Given the description of an element on the screen output the (x, y) to click on. 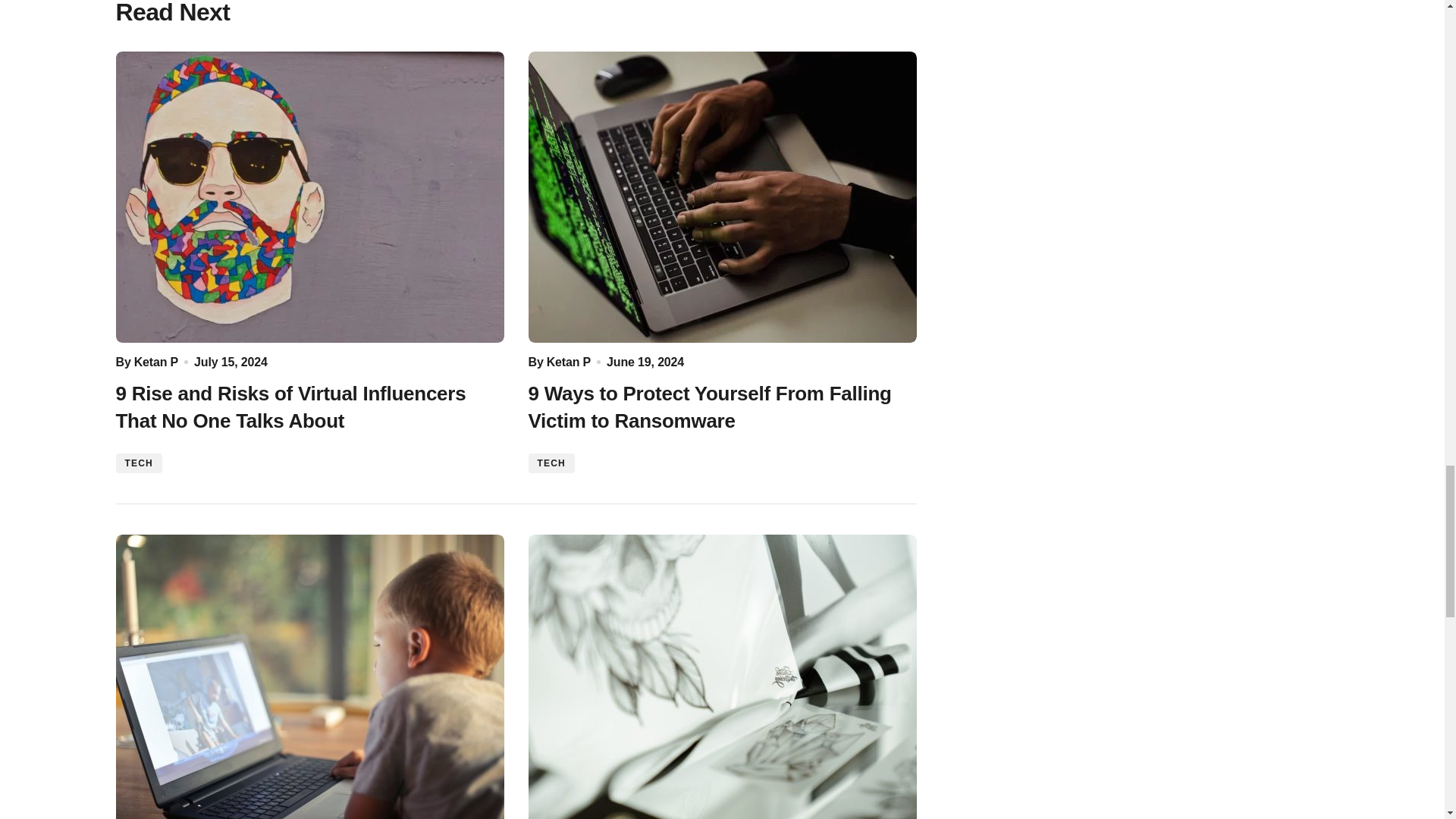
What are the Benefits of Airprint Label Printer? (721, 676)
9 Ways to Protect Yourself From Falling Victim to Ransomware (721, 197)
